Given the description of an element on the screen output the (x, y) to click on. 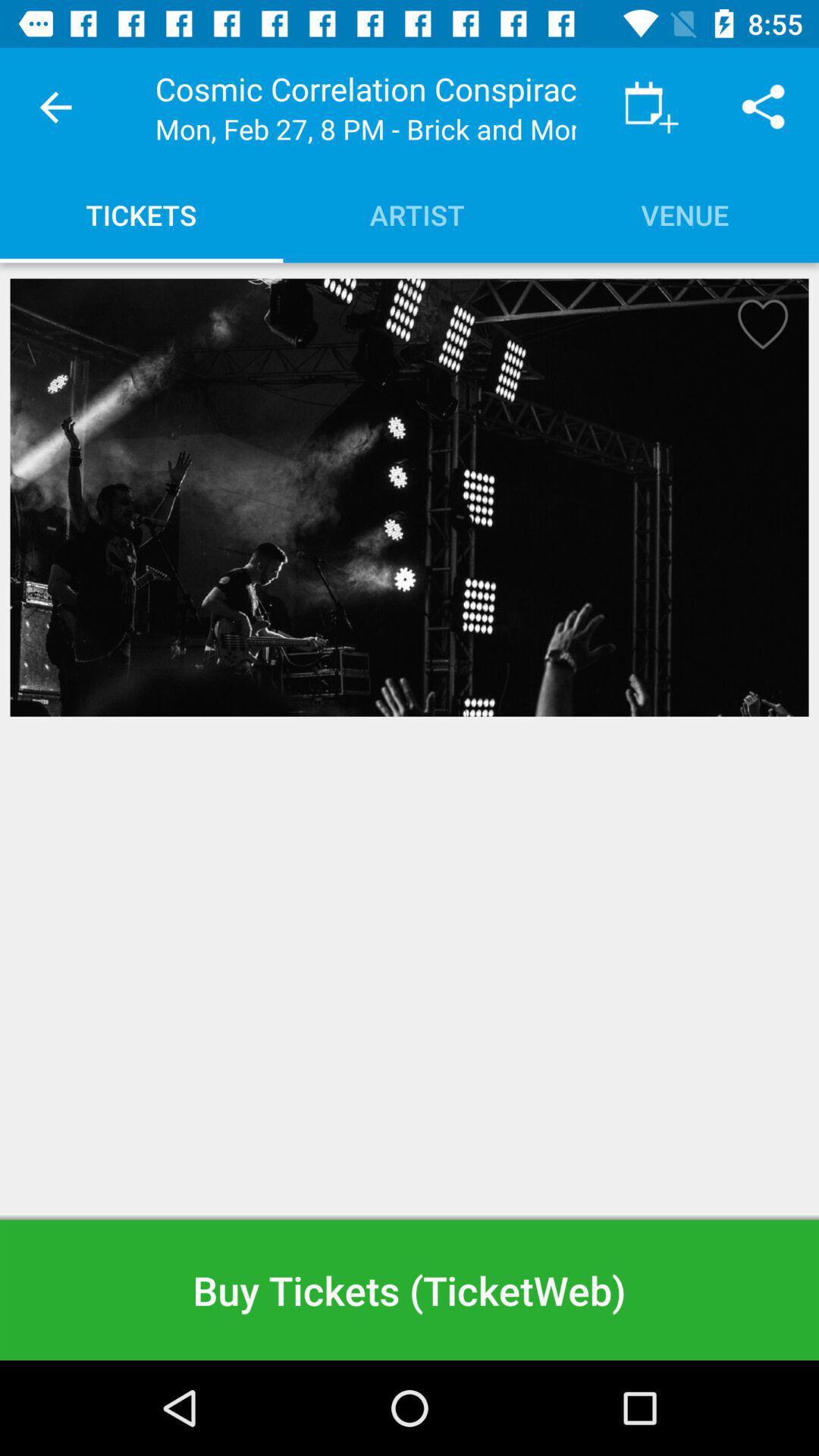
open icon above the tickets item (55, 107)
